Given the description of an element on the screen output the (x, y) to click on. 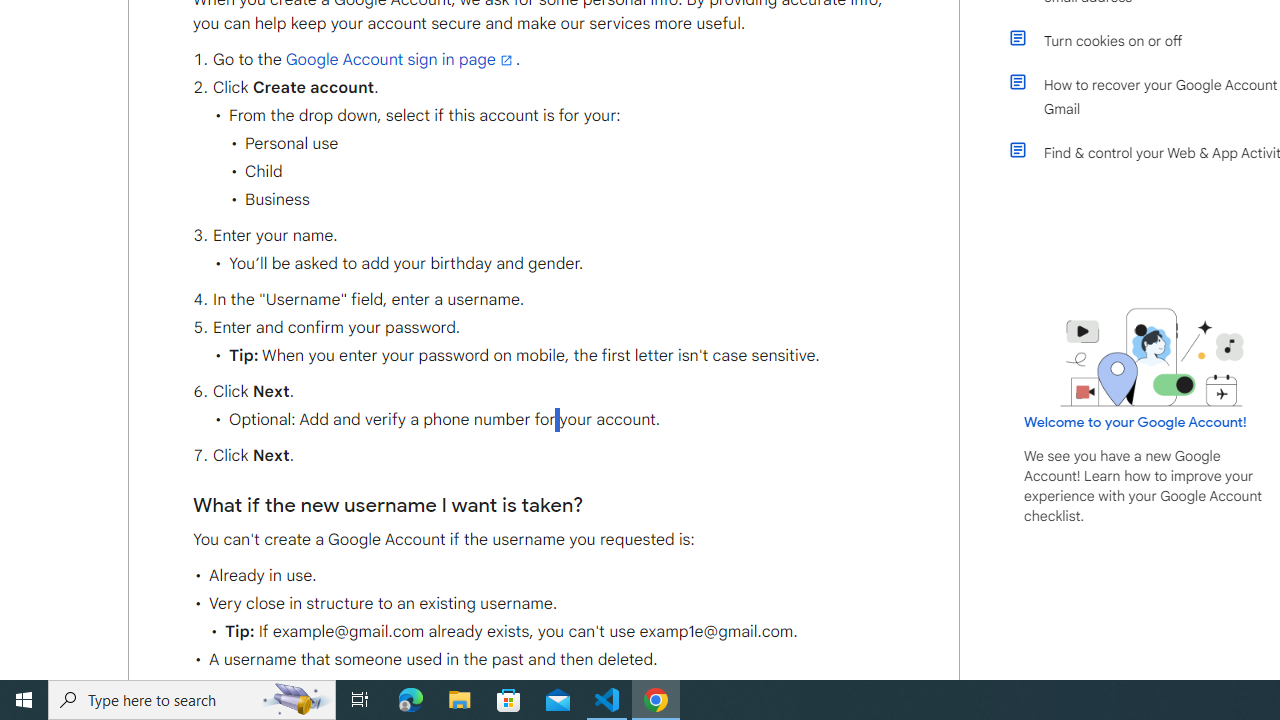
Welcome to your Google Account! (1135, 422)
Google Account sign in page (400, 59)
Learning Center home page image (1152, 357)
